Given the description of an element on the screen output the (x, y) to click on. 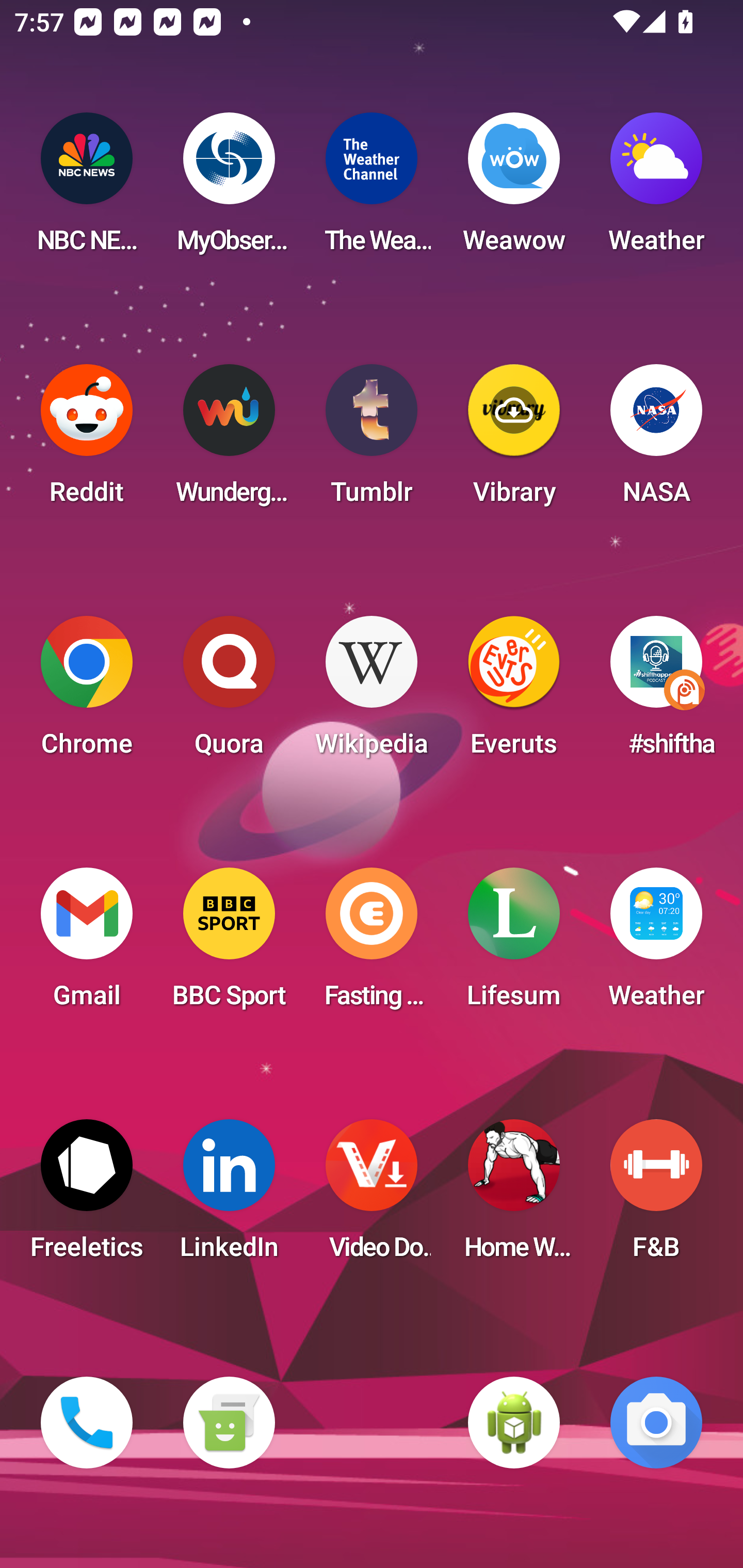
NBC NEWS (86, 188)
MyObservatory (228, 188)
The Weather Channel (371, 188)
Weawow (513, 188)
Weather (656, 188)
Reddit (86, 440)
Wunderground (228, 440)
Tumblr (371, 440)
Vibrary (513, 440)
NASA (656, 440)
Chrome (86, 692)
Quora (228, 692)
Wikipedia (371, 692)
Everuts (513, 692)
#shifthappens in the Digital Workplace Podcast (656, 692)
Gmail (86, 943)
BBC Sport (228, 943)
Fasting Coach (371, 943)
Lifesum (513, 943)
Weather (656, 943)
Freeletics (86, 1195)
LinkedIn (228, 1195)
Video Downloader & Ace Player (371, 1195)
Home Workout (513, 1195)
F&B (656, 1195)
Phone (86, 1422)
Messaging (228, 1422)
WebView Browser Tester (513, 1422)
Camera (656, 1422)
